Given the description of an element on the screen output the (x, y) to click on. 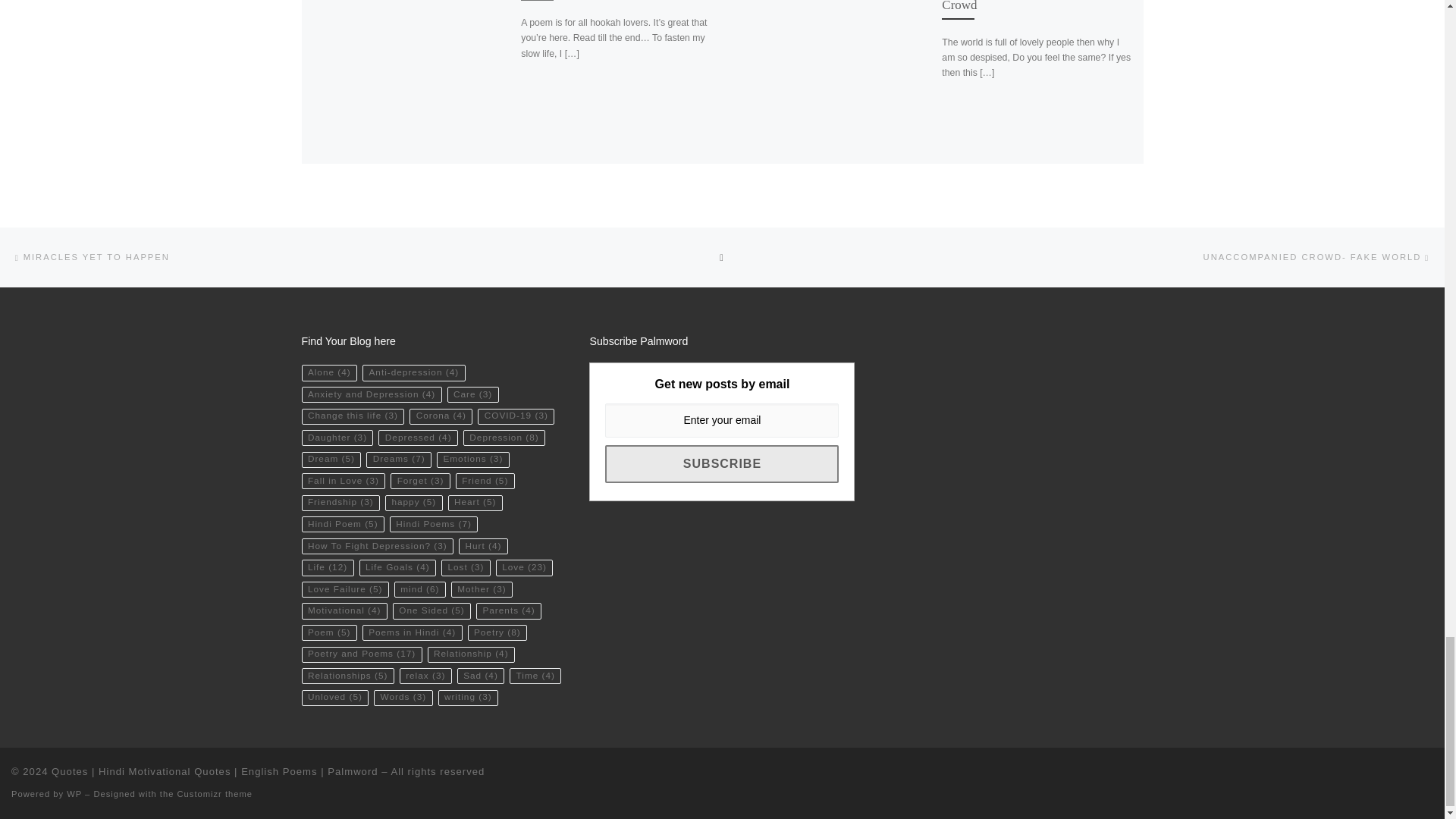
Subscribe (721, 464)
